Given the description of an element on the screen output the (x, y) to click on. 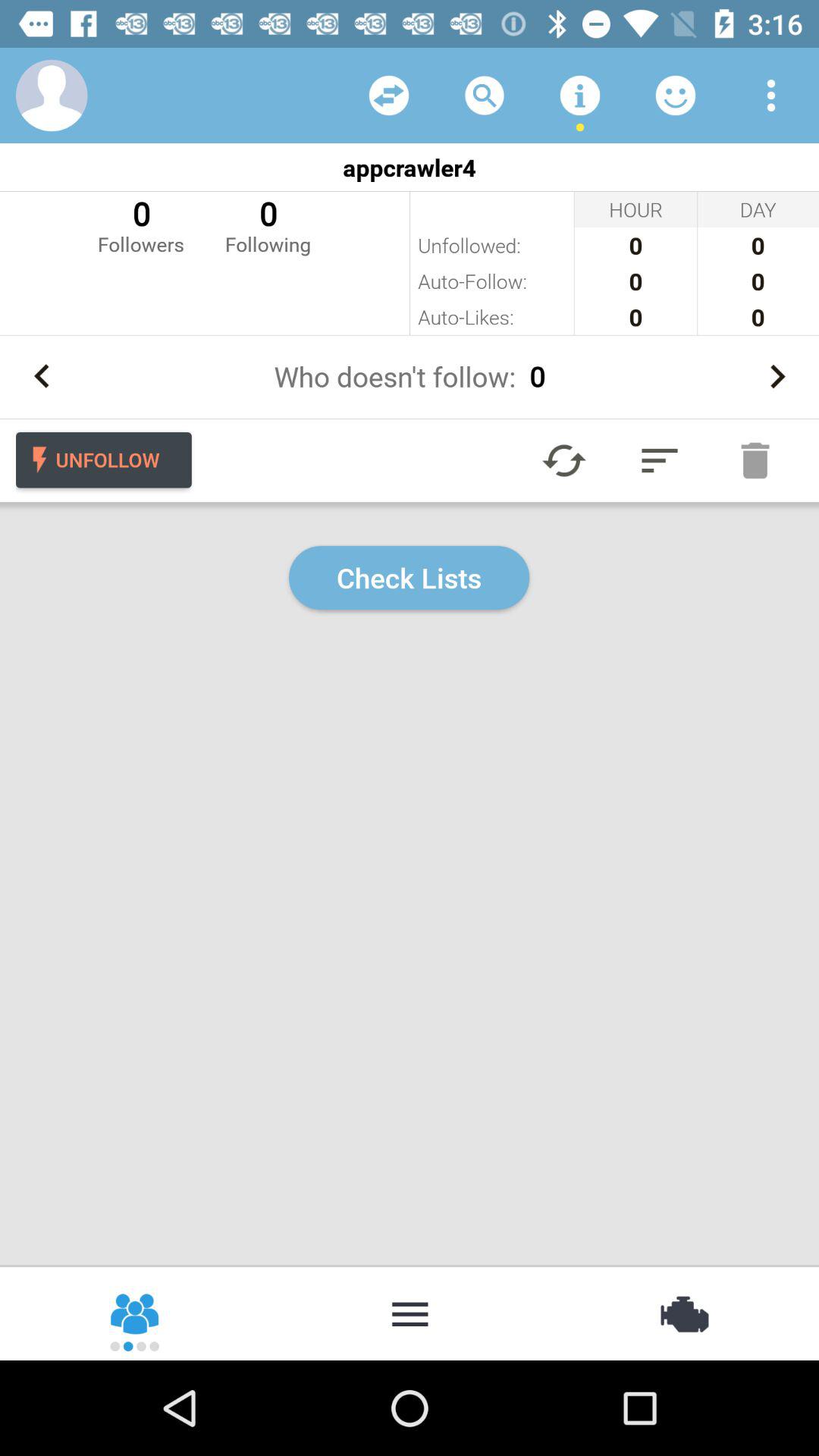
share the results (136, 1312)
